Given the description of an element on the screen output the (x, y) to click on. 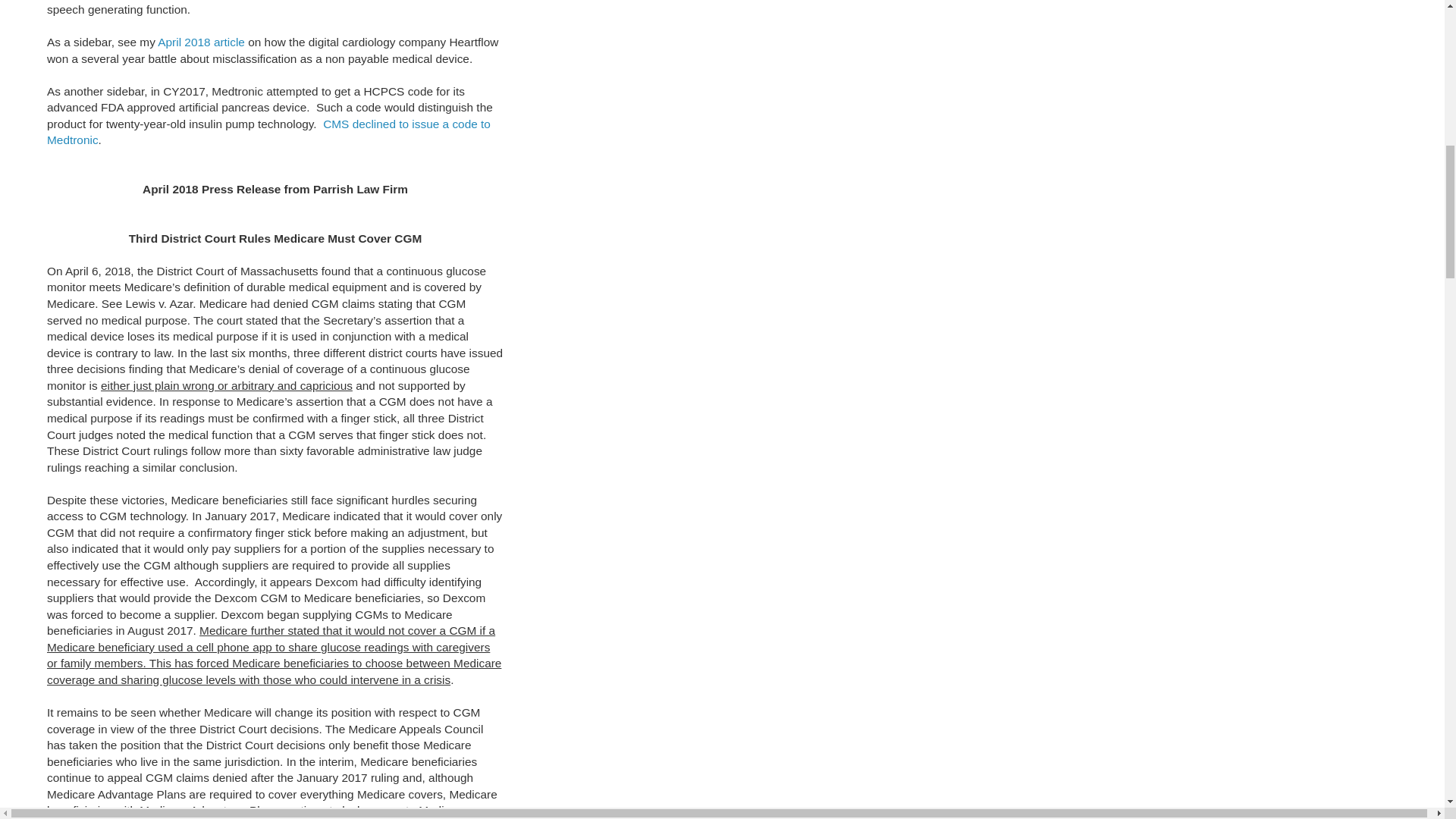
CMS declined to issue a code to Medtronic (268, 132)
April 2018 article (200, 42)
